Given the description of an element on the screen output the (x, y) to click on. 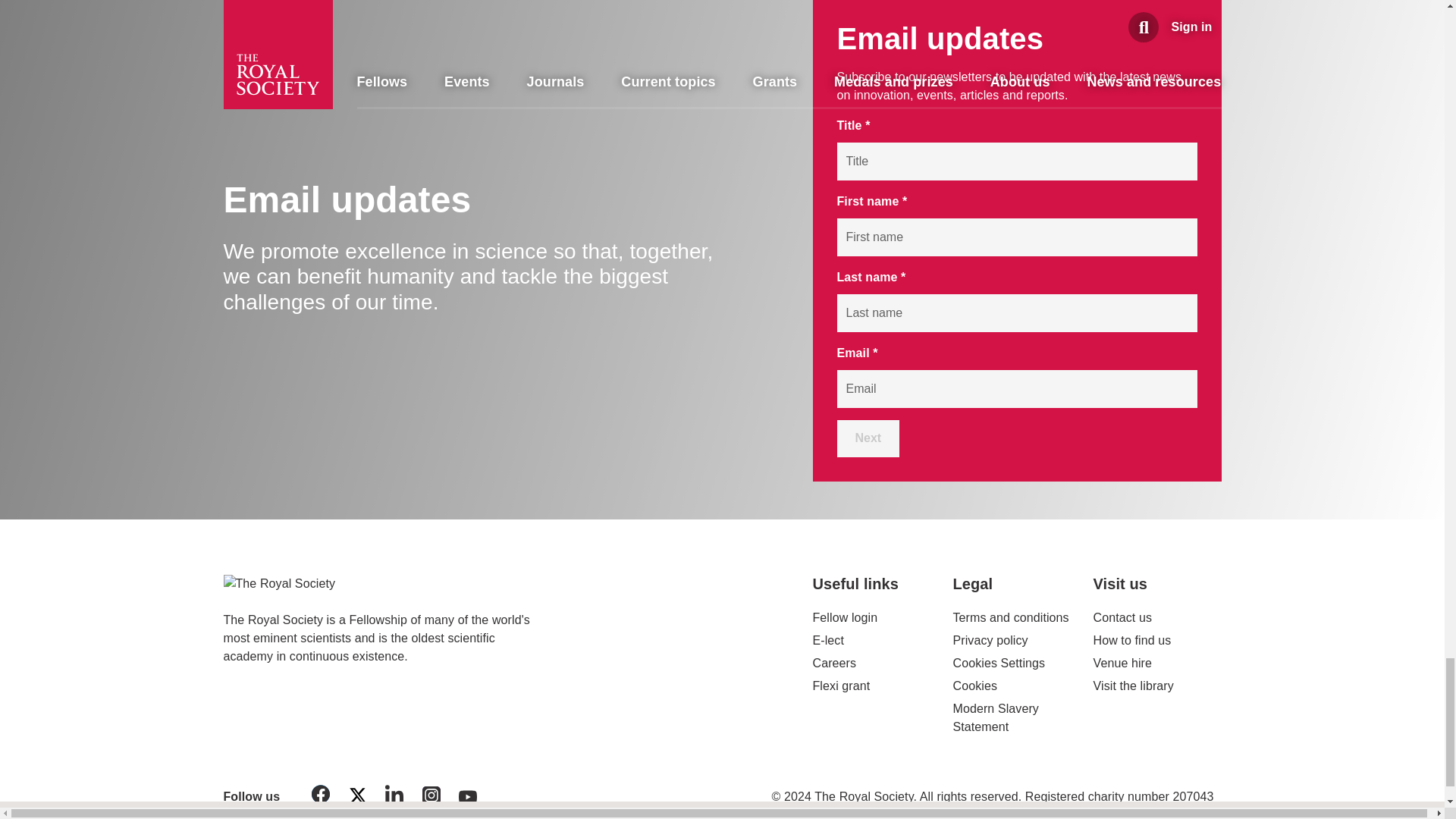
LinkedIn (393, 796)
Twitter (357, 798)
YouTube (467, 798)
Facebook (320, 796)
Instagram (431, 798)
